Given the description of an element on the screen output the (x, y) to click on. 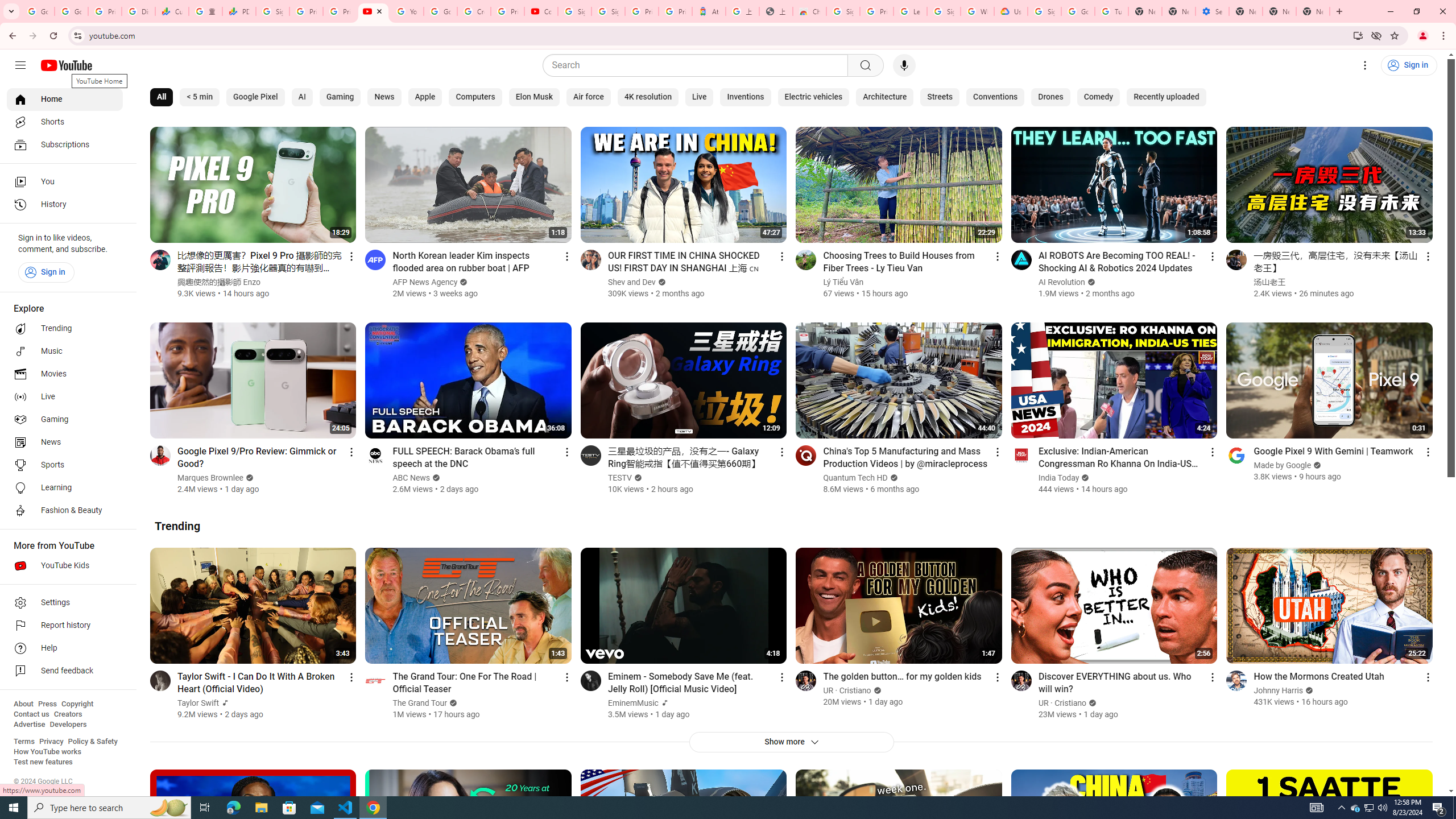
Test new features (42, 761)
Copyright (77, 703)
Live (698, 97)
Computers (475, 97)
Recently uploaded (1166, 97)
Sign in - Google Accounts (842, 11)
Sports (64, 464)
ABC News (411, 477)
Taylor Swift (198, 702)
Go to channel (1236, 680)
